Given the description of an element on the screen output the (x, y) to click on. 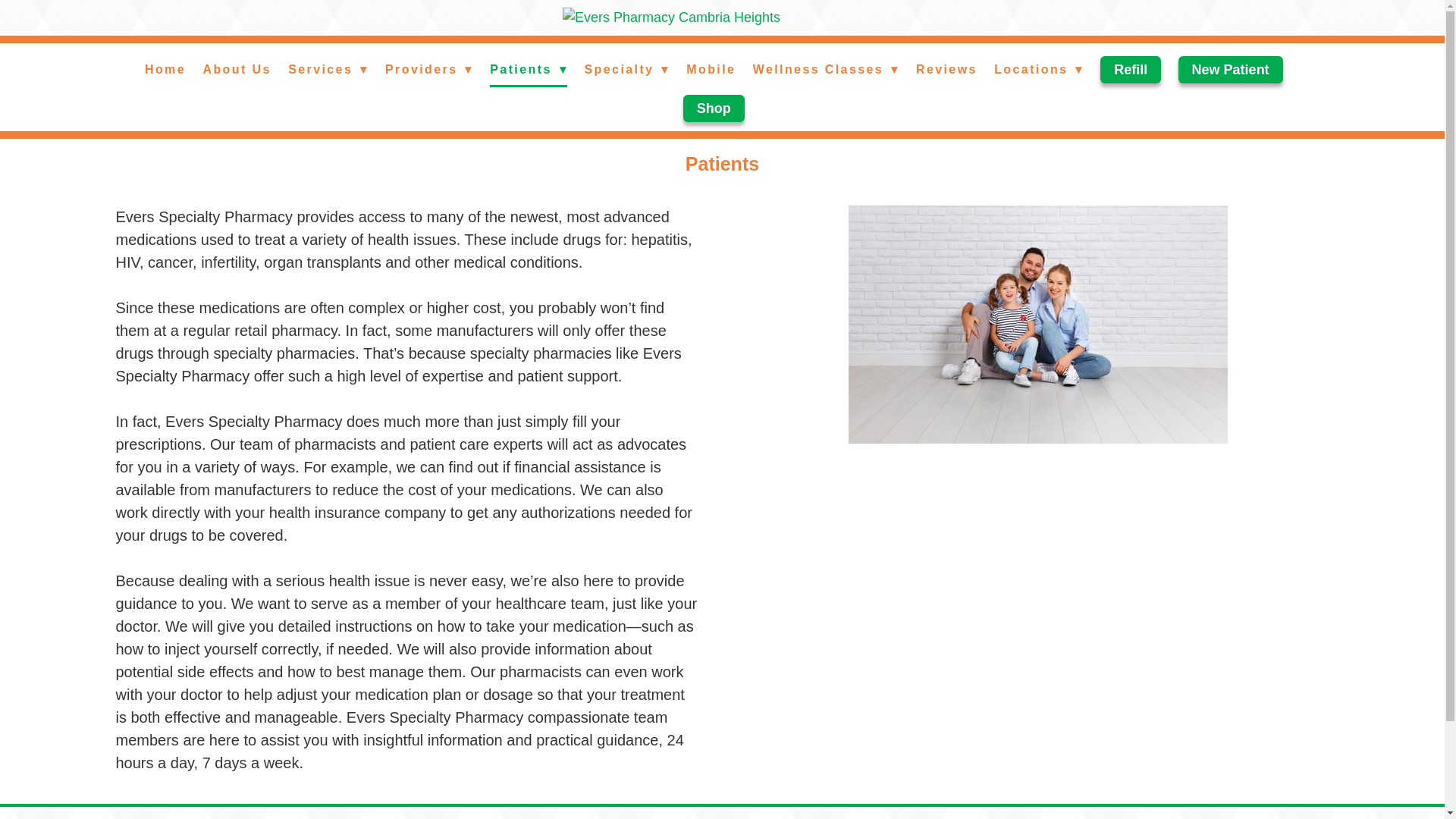
Home (165, 69)
About Us (236, 69)
Evers Pharmacy Cambria Heights (722, 17)
Mobile (710, 69)
